Given the description of an element on the screen output the (x, y) to click on. 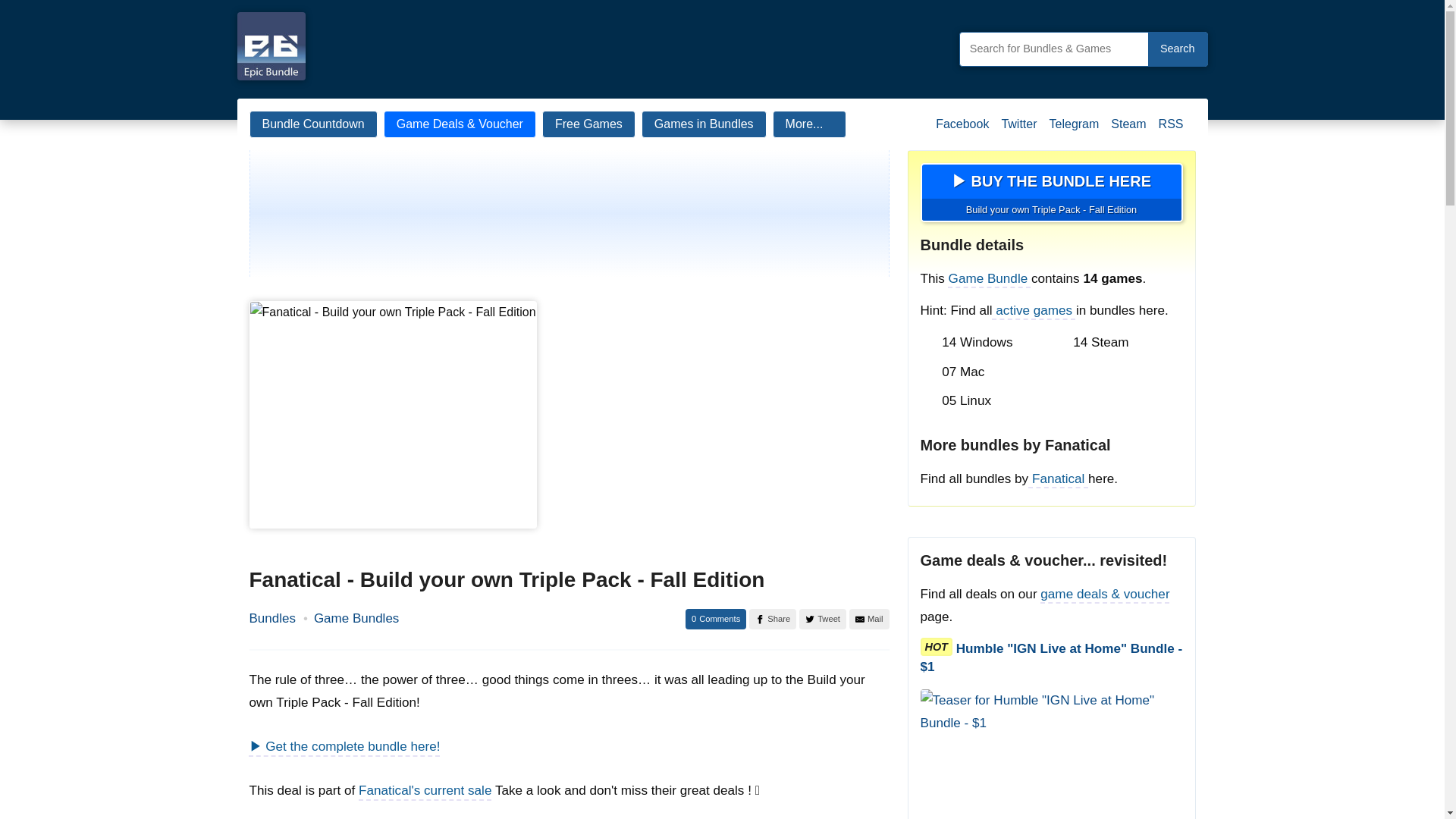
Mail (868, 619)
Search (1177, 49)
Steam (1128, 129)
Fanatical's current sale (425, 789)
Telegram (1074, 129)
Show all active games in bundles (1033, 310)
Bundles (271, 618)
Twitter (1018, 129)
Bundle Countdown (312, 124)
